Given the description of an element on the screen output the (x, y) to click on. 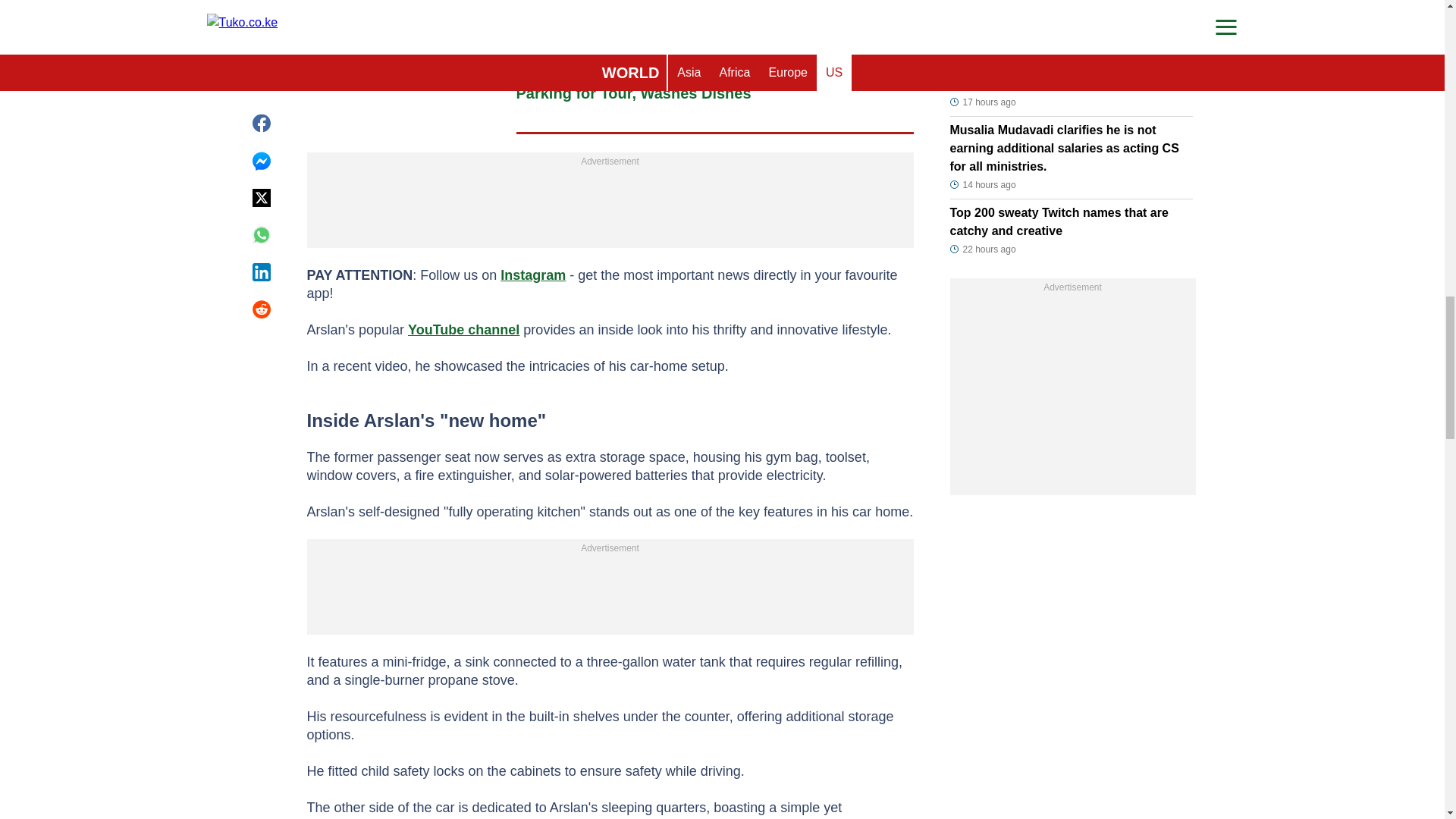
Instagram - Tuko (533, 274)
